Given the description of an element on the screen output the (x, y) to click on. 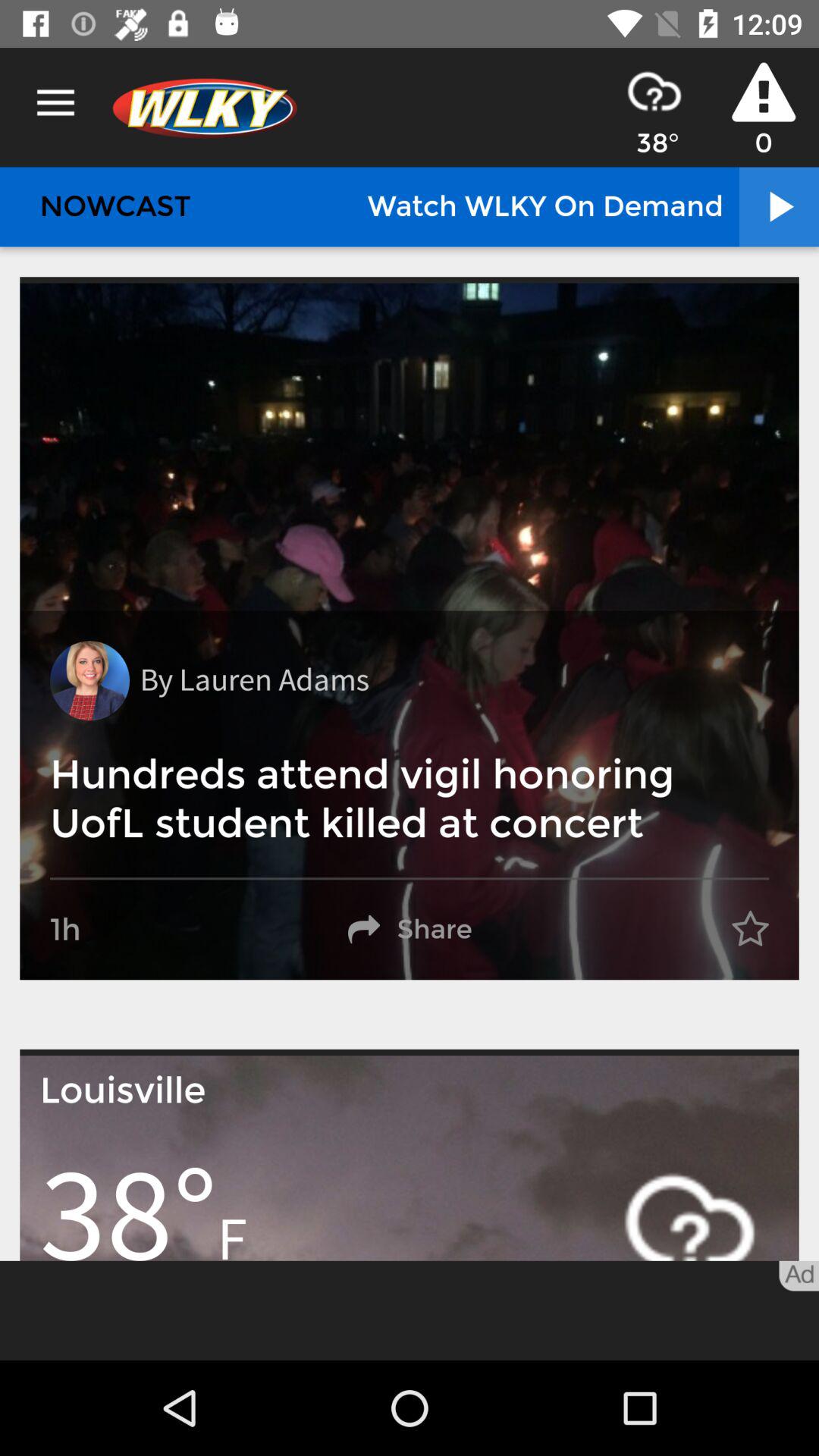
jump until the by lauren adams item (254, 680)
